Given the description of an element on the screen output the (x, y) to click on. 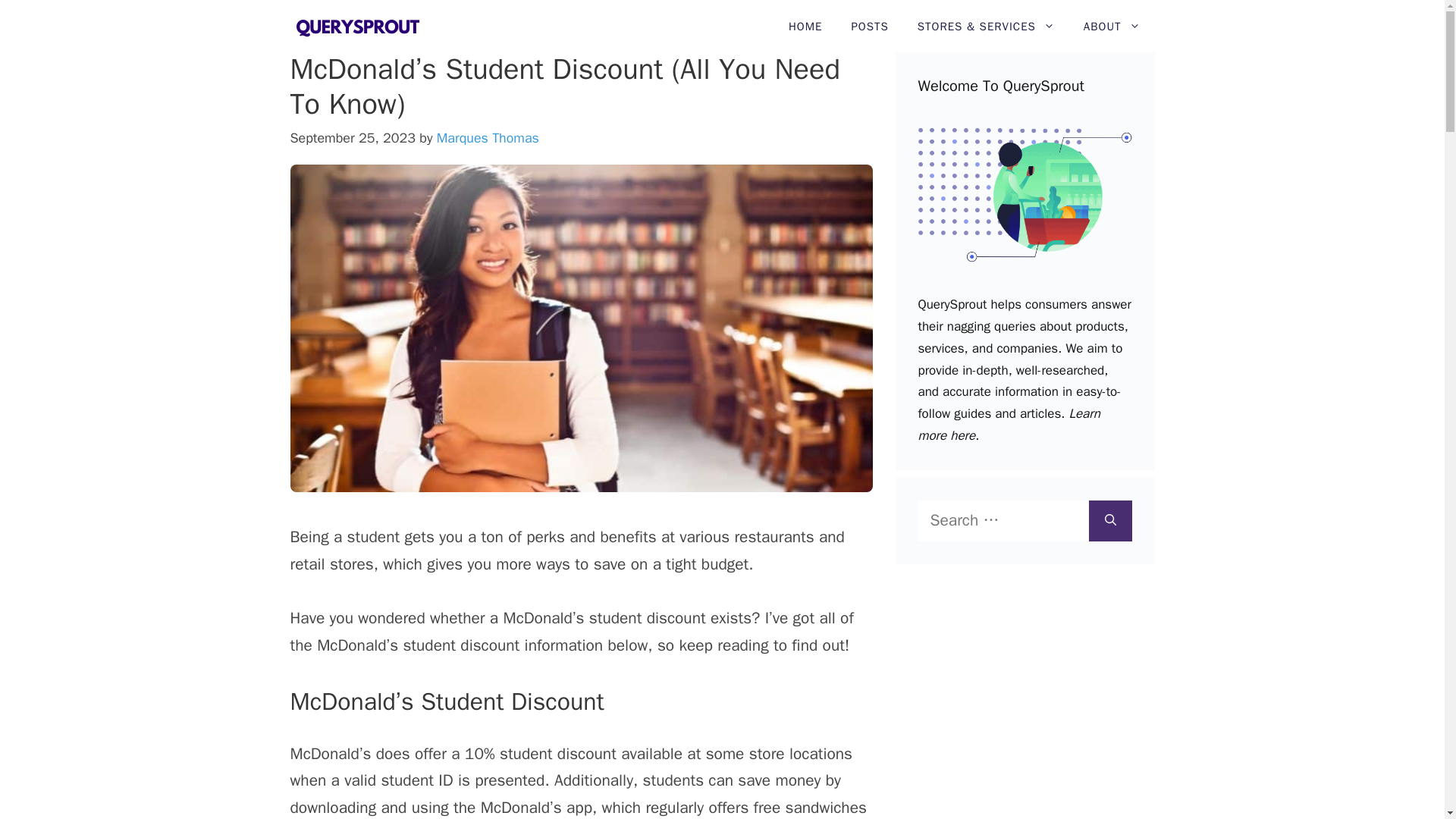
Marques Thomas (487, 137)
POSTS (868, 26)
View all posts by Marques Thomas (487, 137)
ABOUT (1111, 26)
Search for: (1002, 520)
HOME (804, 26)
Learn more here (1008, 424)
